Given the description of an element on the screen output the (x, y) to click on. 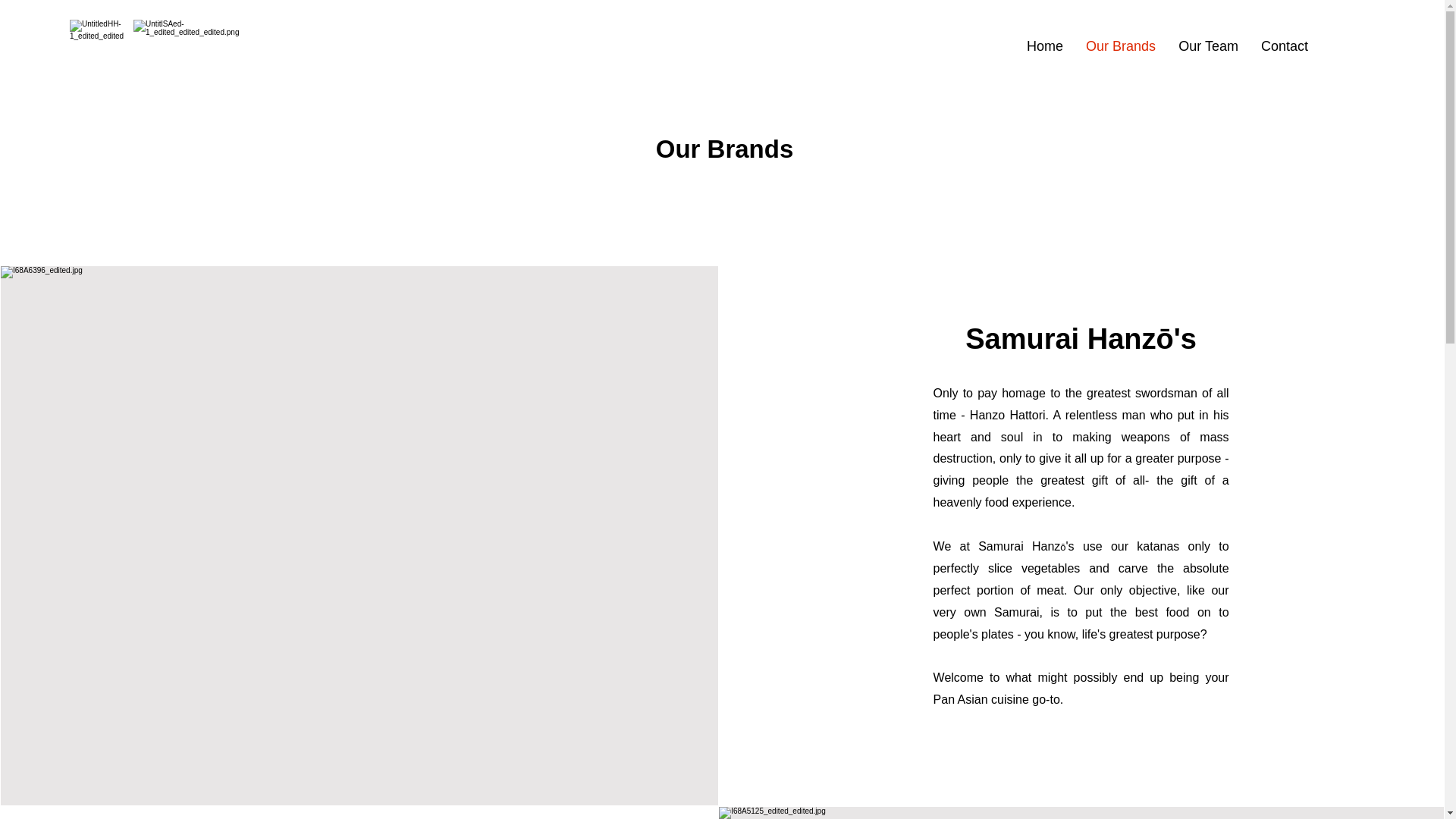
Home (1044, 46)
Our Brands (1120, 46)
Contact (1284, 46)
Our Team (1208, 46)
